Given the description of an element on the screen output the (x, y) to click on. 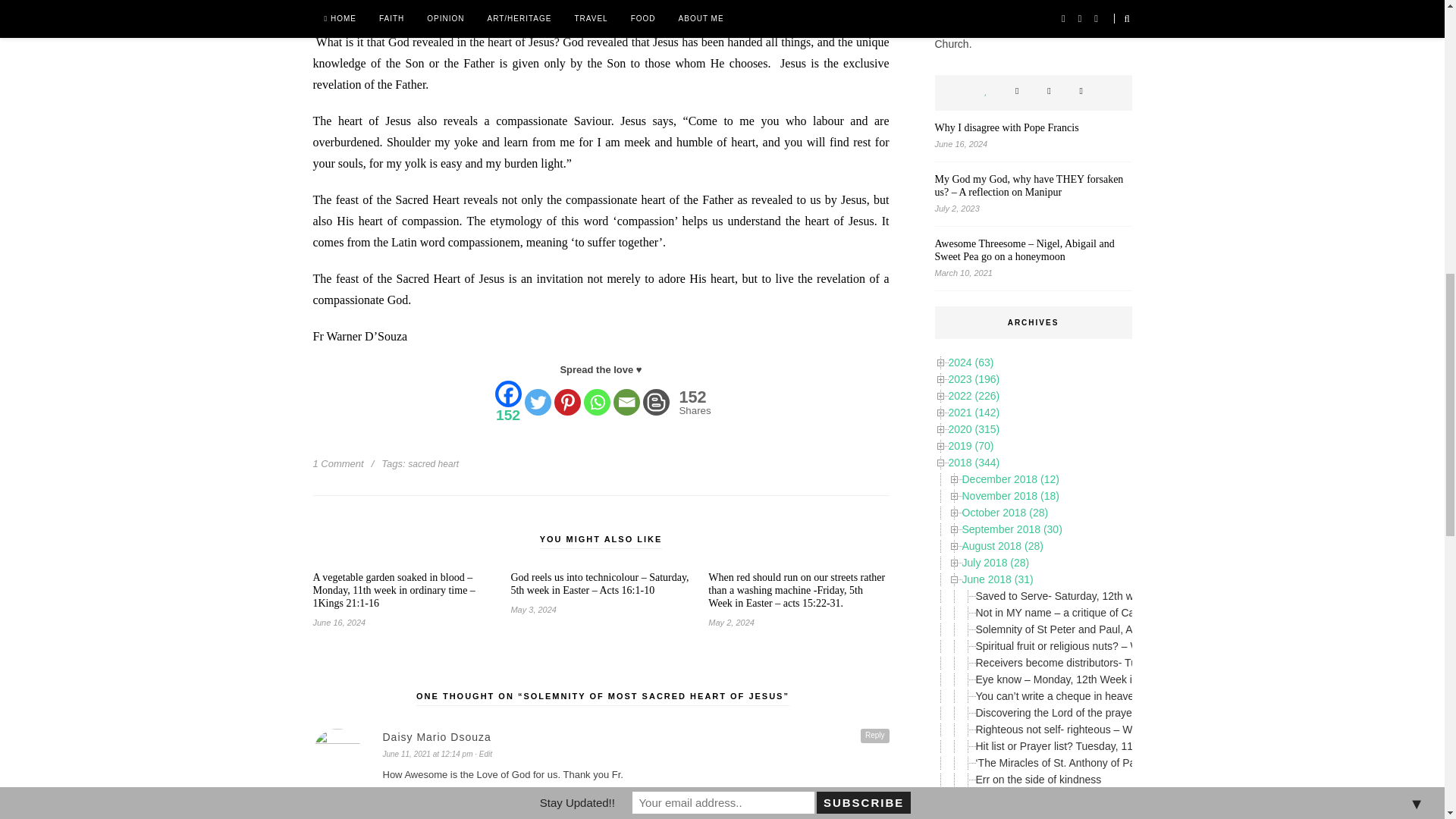
Blogger Post (656, 402)
Edit Comment (688, 401)
Twitter (483, 754)
Pinterest (537, 402)
Whatsapp (566, 402)
Total Shares (596, 402)
Email (692, 402)
June 11, 2021 at 12:14 pm (625, 402)
sacred heart (426, 754)
